Given the description of an element on the screen output the (x, y) to click on. 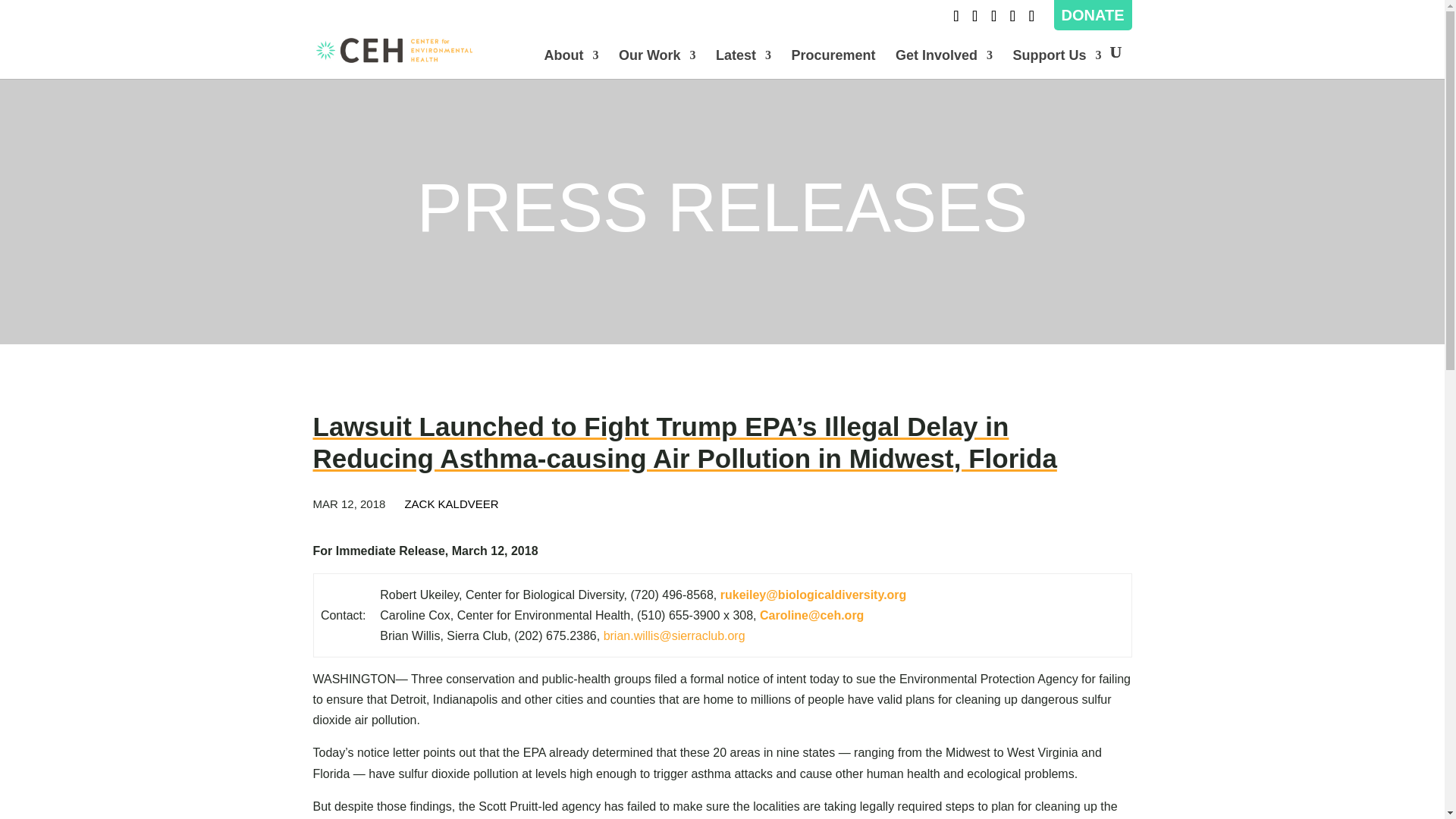
Procurement (834, 63)
Get Involved (943, 63)
Latest (743, 63)
Posts by Zack Kaldveer (450, 503)
Support Us (1057, 63)
DONATE (1092, 15)
Our Work (656, 63)
About (570, 63)
